Given the description of an element on the screen output the (x, y) to click on. 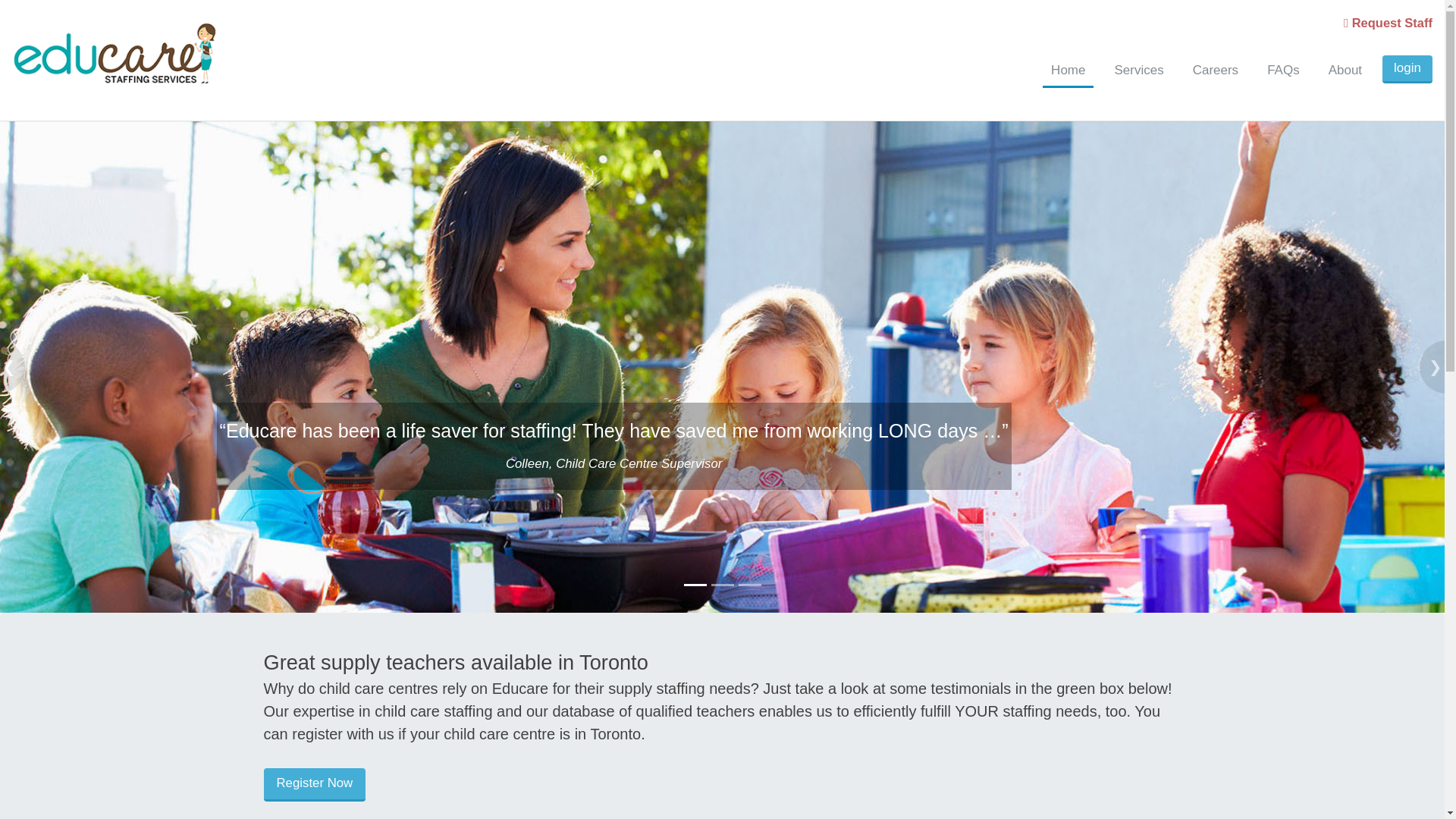
About (1345, 70)
Careers (1215, 70)
FAQs (1283, 70)
Request Staff (1387, 22)
Home (1067, 71)
Services (1138, 70)
login (1406, 69)
Register Now (314, 784)
